Given the description of an element on the screen output the (x, y) to click on. 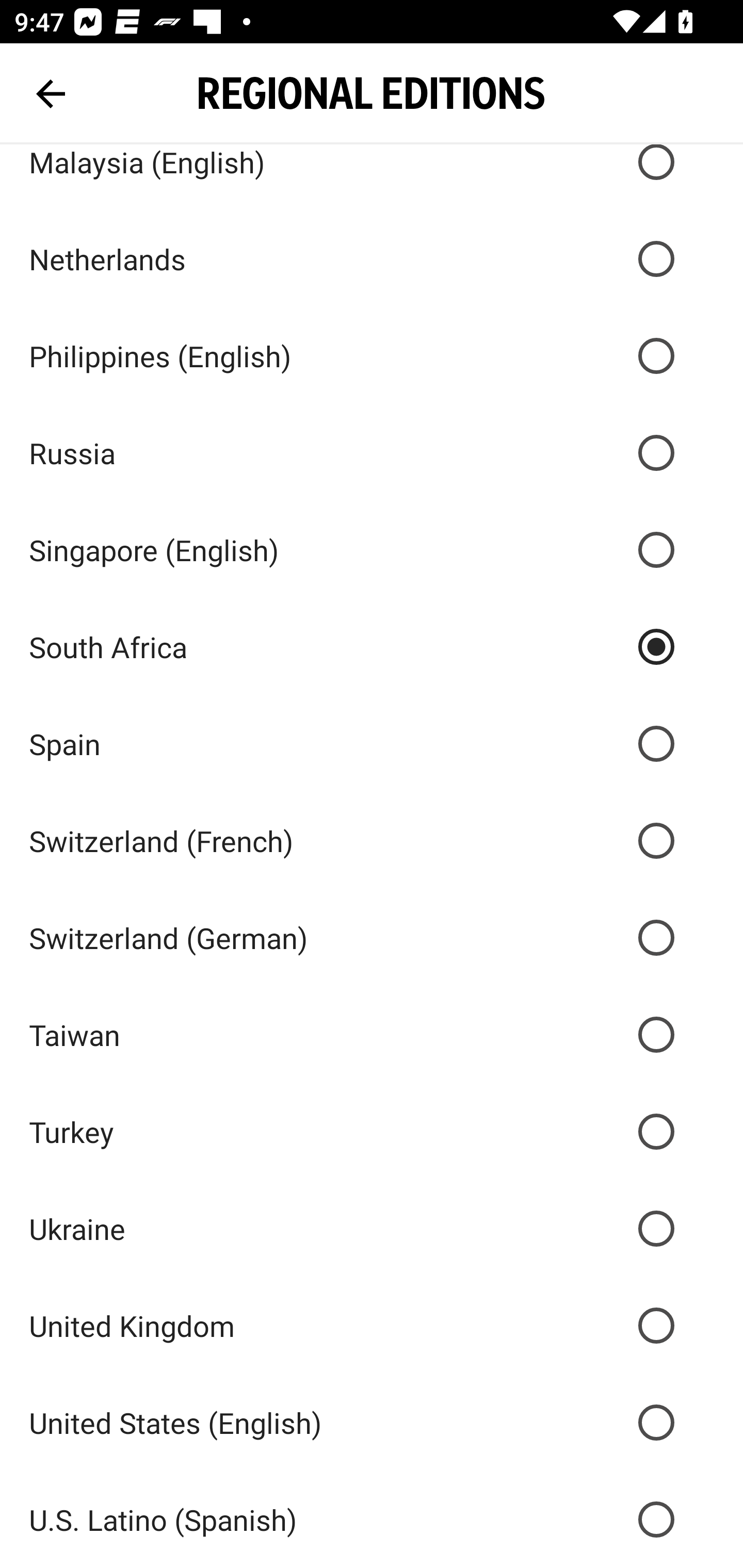
Back (50, 93)
Malaysia (English) (371, 177)
Netherlands (371, 258)
Philippines (English) (371, 355)
Russia (371, 452)
Singapore (English) (371, 549)
South Africa (371, 646)
Spain (371, 742)
Switzerland (French) (371, 840)
Switzerland (German) (371, 937)
Taiwan (371, 1034)
Turkey (371, 1131)
Ukraine (371, 1228)
United Kingdom (371, 1324)
United States (English) (371, 1421)
U.S. Latino (Spanish) (371, 1519)
